Given the description of an element on the screen output the (x, y) to click on. 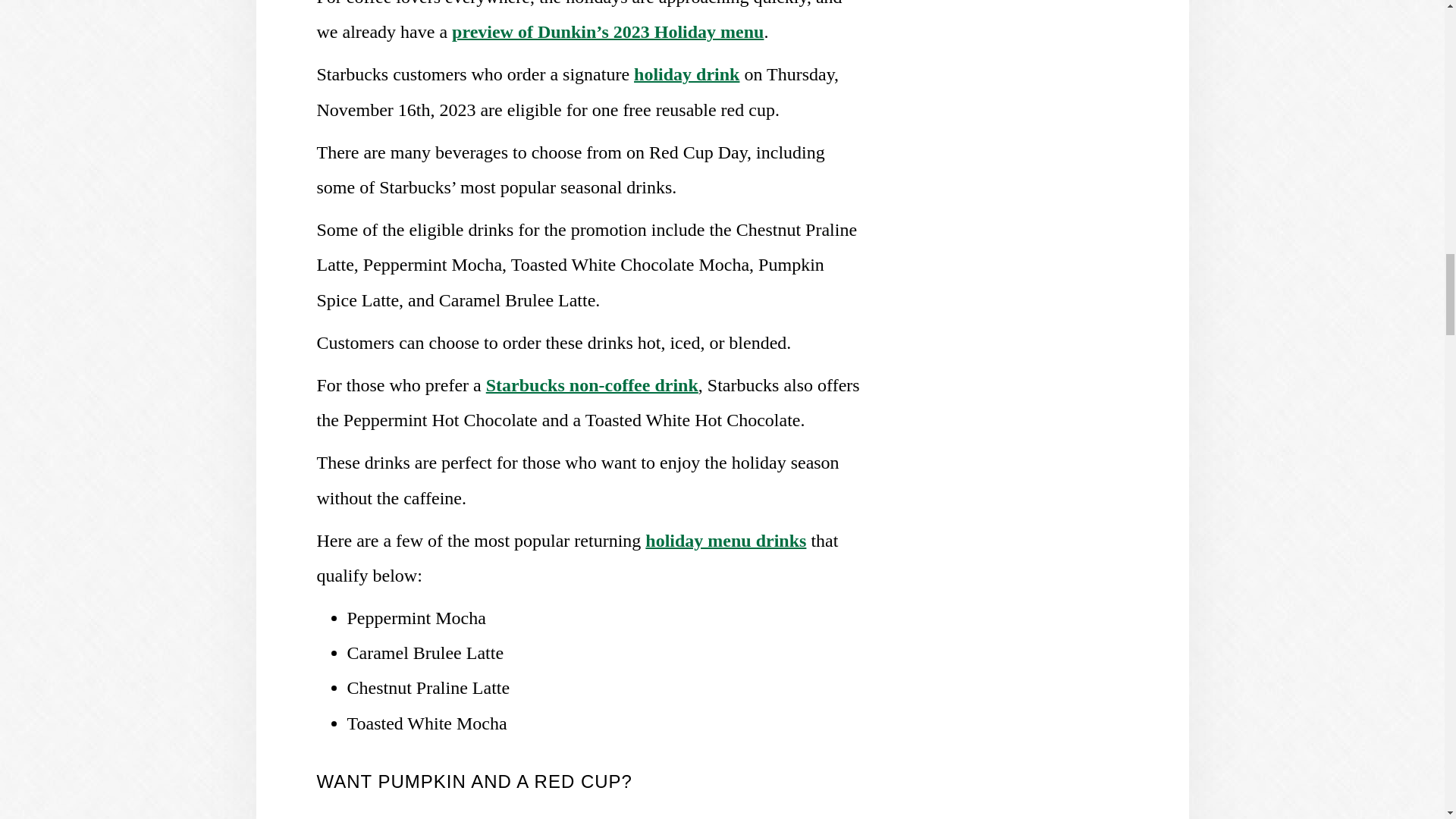
Starbucks non-coffee drink (592, 384)
holiday menu drinks (725, 540)
holiday drink (686, 74)
